Given the description of an element on the screen output the (x, y) to click on. 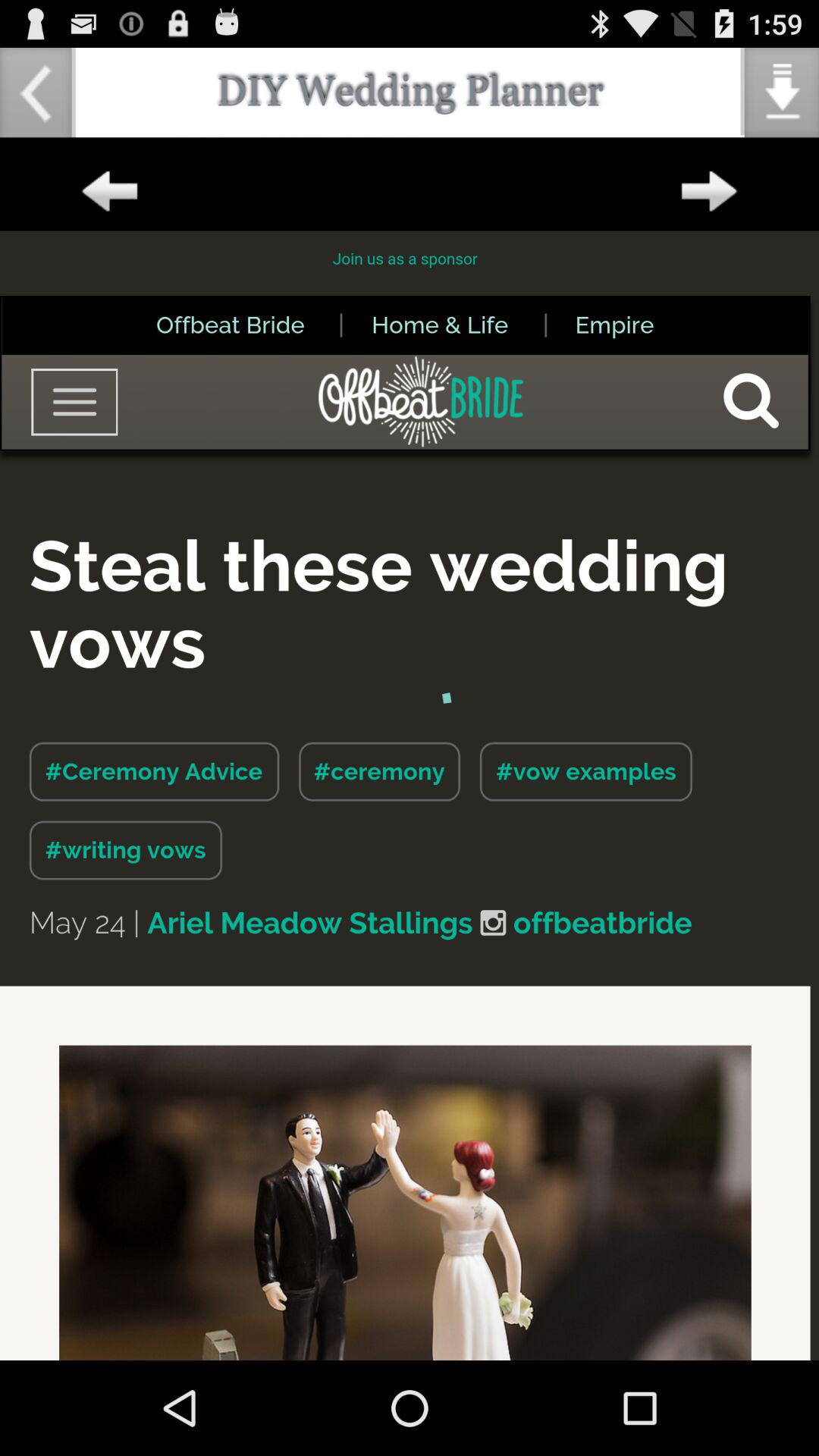
go to forword (709, 192)
